Given the description of an element on the screen output the (x, y) to click on. 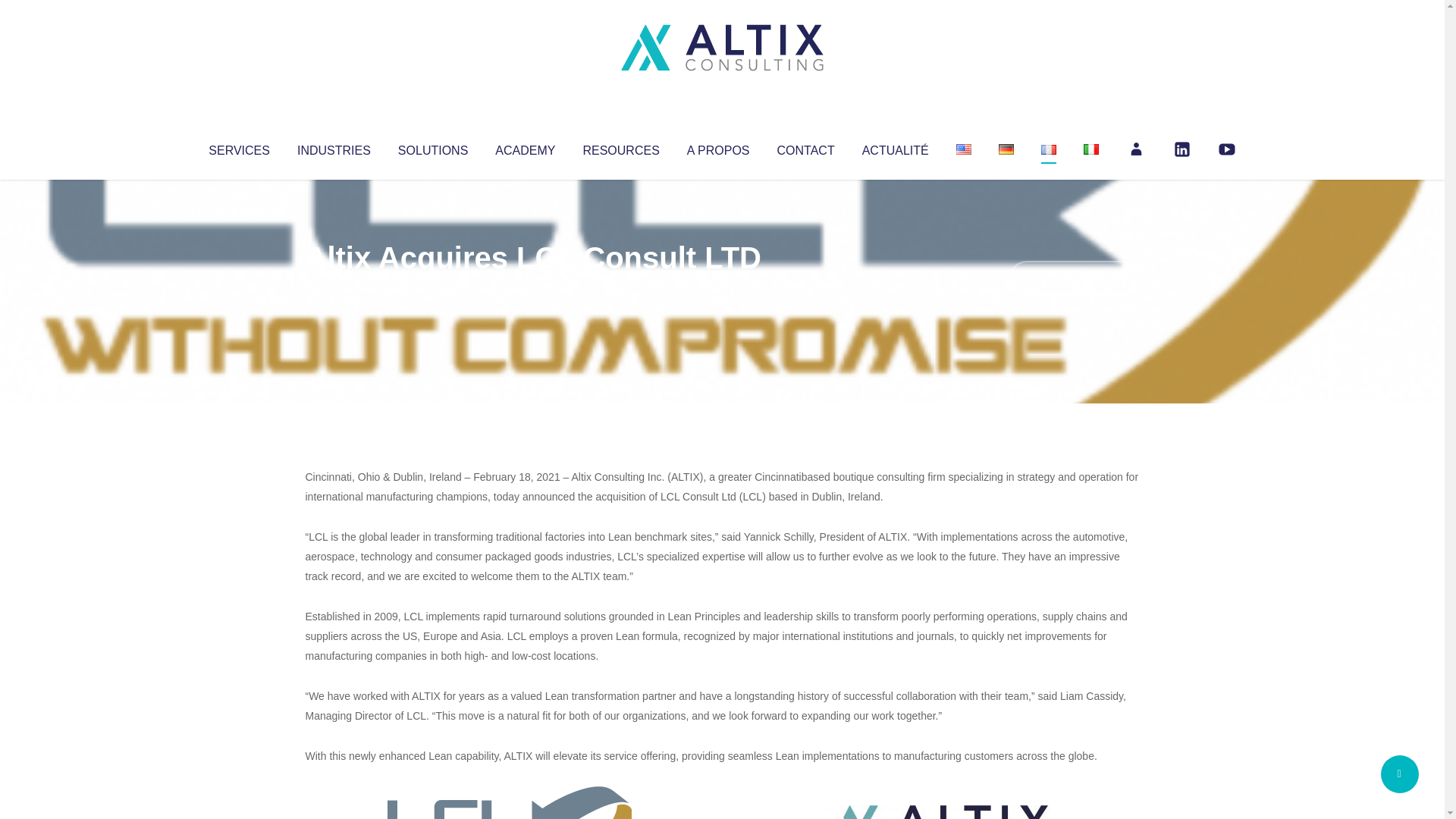
INDUSTRIES (334, 146)
RESOURCES (620, 146)
SERVICES (238, 146)
Uncategorized (530, 287)
Altix (333, 287)
No Comments (1073, 278)
Articles par Altix (333, 287)
SOLUTIONS (432, 146)
A PROPOS (718, 146)
ACADEMY (524, 146)
